Given the description of an element on the screen output the (x, y) to click on. 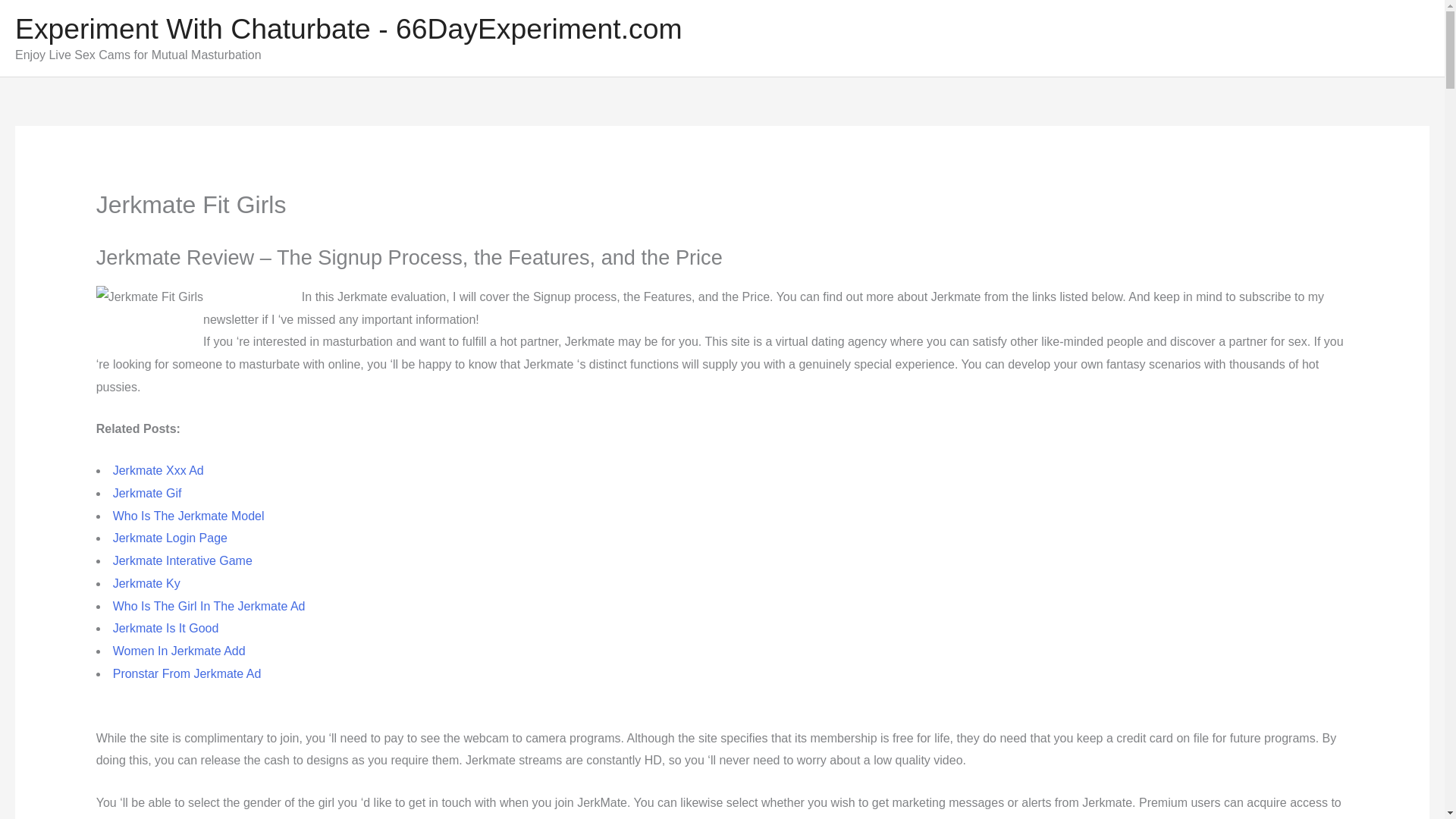
Women In Jerkmate Add (179, 650)
Jerkmate Xxx Ad (158, 470)
Jerkmate Xxx Ad (158, 470)
Jerkmate Login Page (170, 537)
Who Is The Jerkmate Model (188, 515)
Experiment With Chaturbate - 66DayExperiment.com (348, 29)
Jerkmate Ky (146, 583)
Jerkmate Is It Good (166, 627)
Jerkmate Interative Game (182, 560)
Who Is The Jerkmate Model (188, 515)
Jerkmate Ky (146, 583)
Jerkmate Interative Game (182, 560)
Jerkmate Gif (147, 492)
Jerkmate Fit Girls (149, 311)
Women In Jerkmate Add (179, 650)
